Given the description of an element on the screen output the (x, y) to click on. 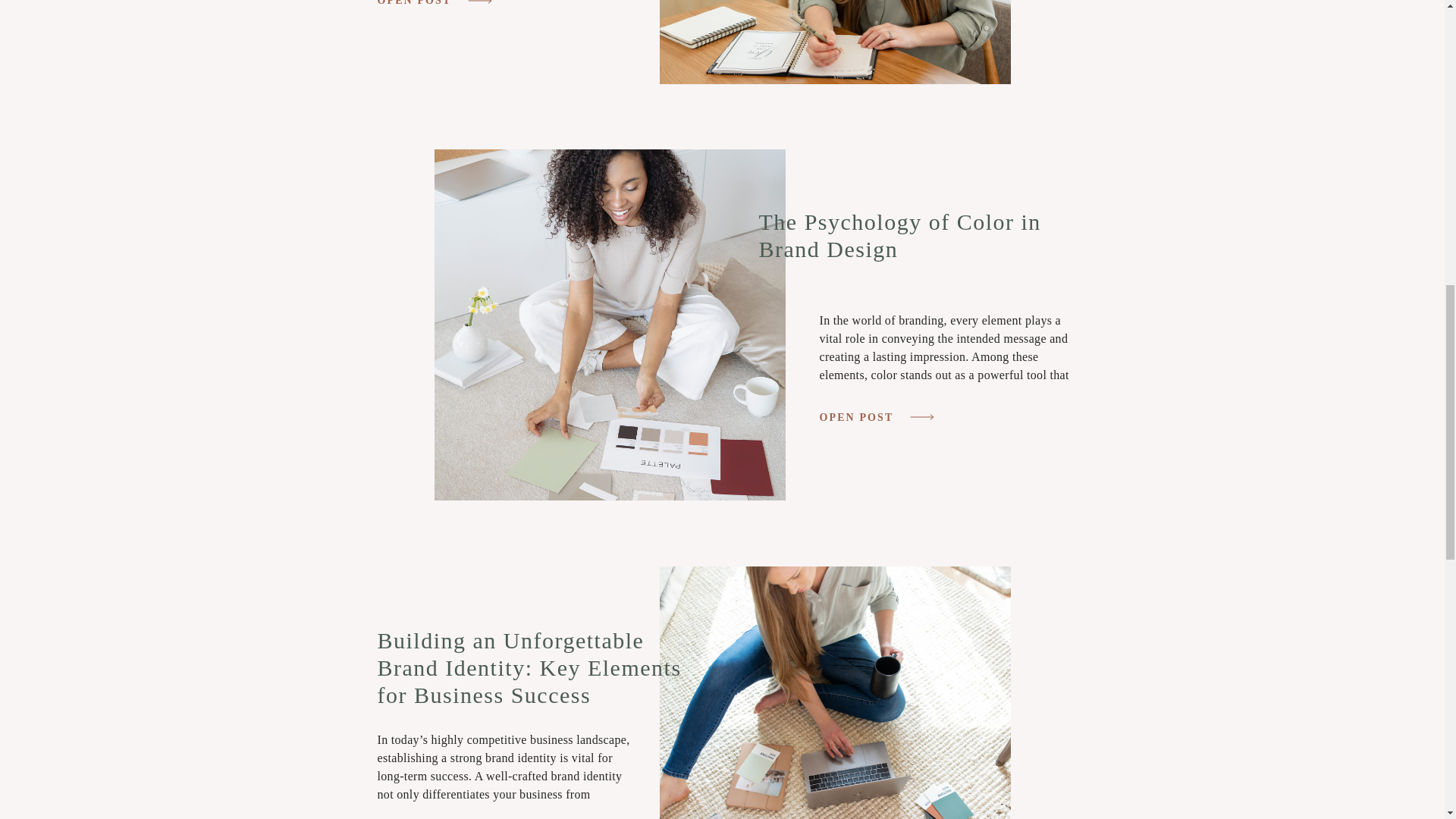
The Psychology of Color in Brand Design (861, 418)
OPEN POST (420, 3)
OPEN POST (861, 418)
The Psychology of Color in Brand Design (899, 235)
The Psychology of Color in Brand Design (608, 324)
